Given the description of an element on the screen output the (x, y) to click on. 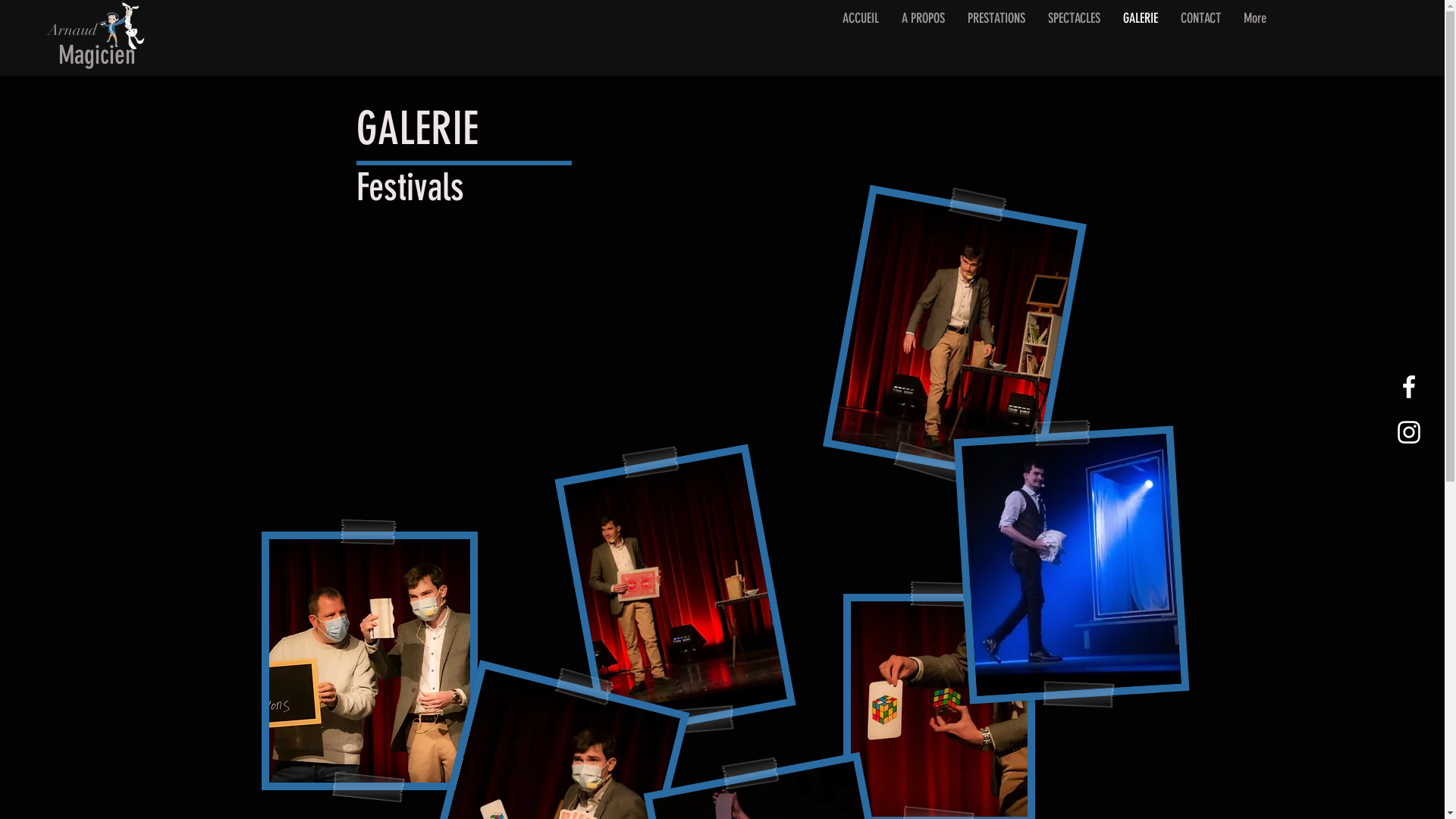
A PROPOS Element type: text (923, 39)
SPECTACLES Element type: text (1072, 39)
CONTACT Element type: text (1200, 39)
PRESTATIONS Element type: text (995, 39)
GALERIE Element type: text (1140, 39)
ACCUEIL Element type: text (860, 39)
